Given the description of an element on the screen output the (x, y) to click on. 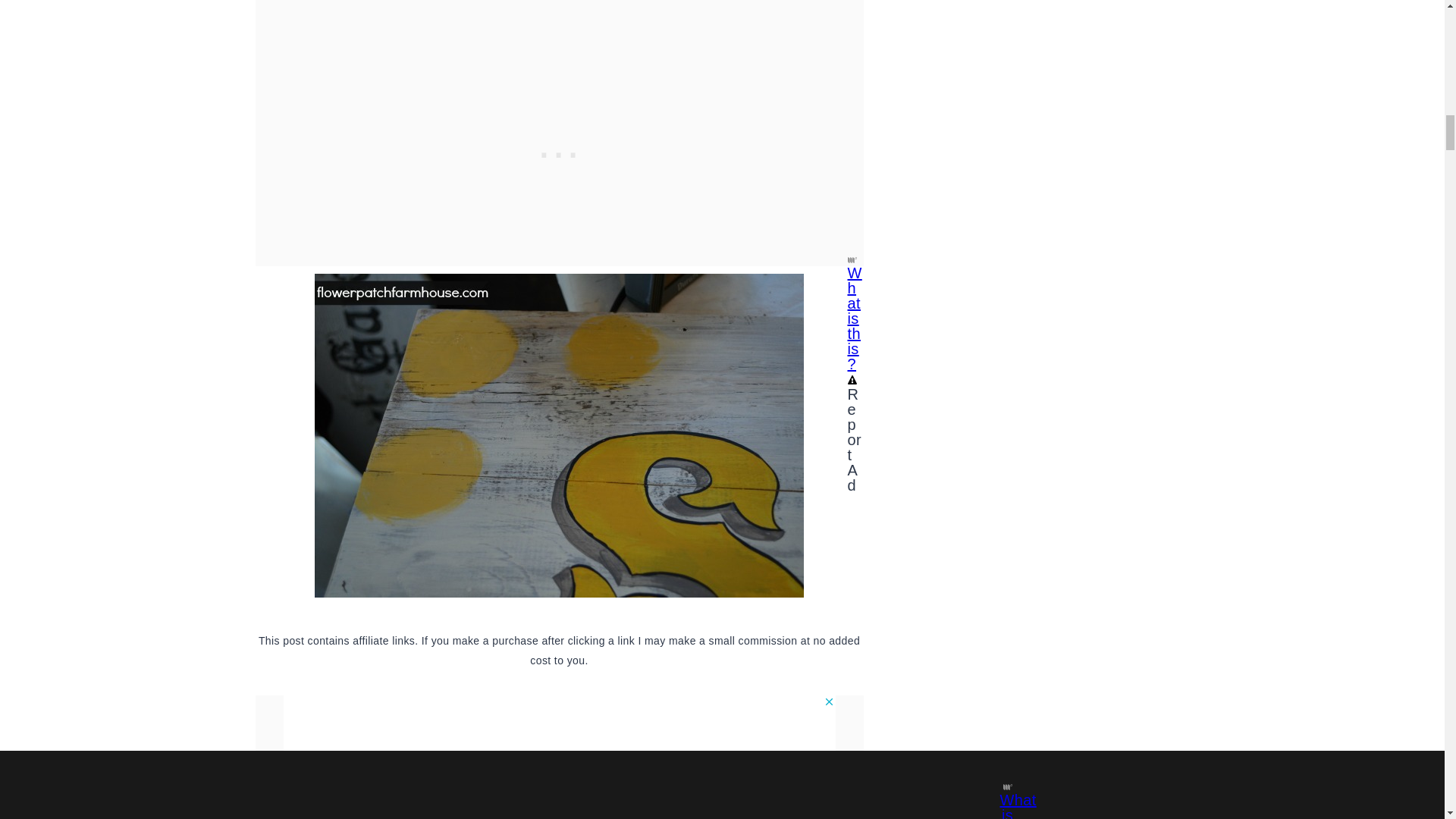
3rd party ad content (559, 729)
3rd party ad content (558, 61)
